Given the description of an element on the screen output the (x, y) to click on. 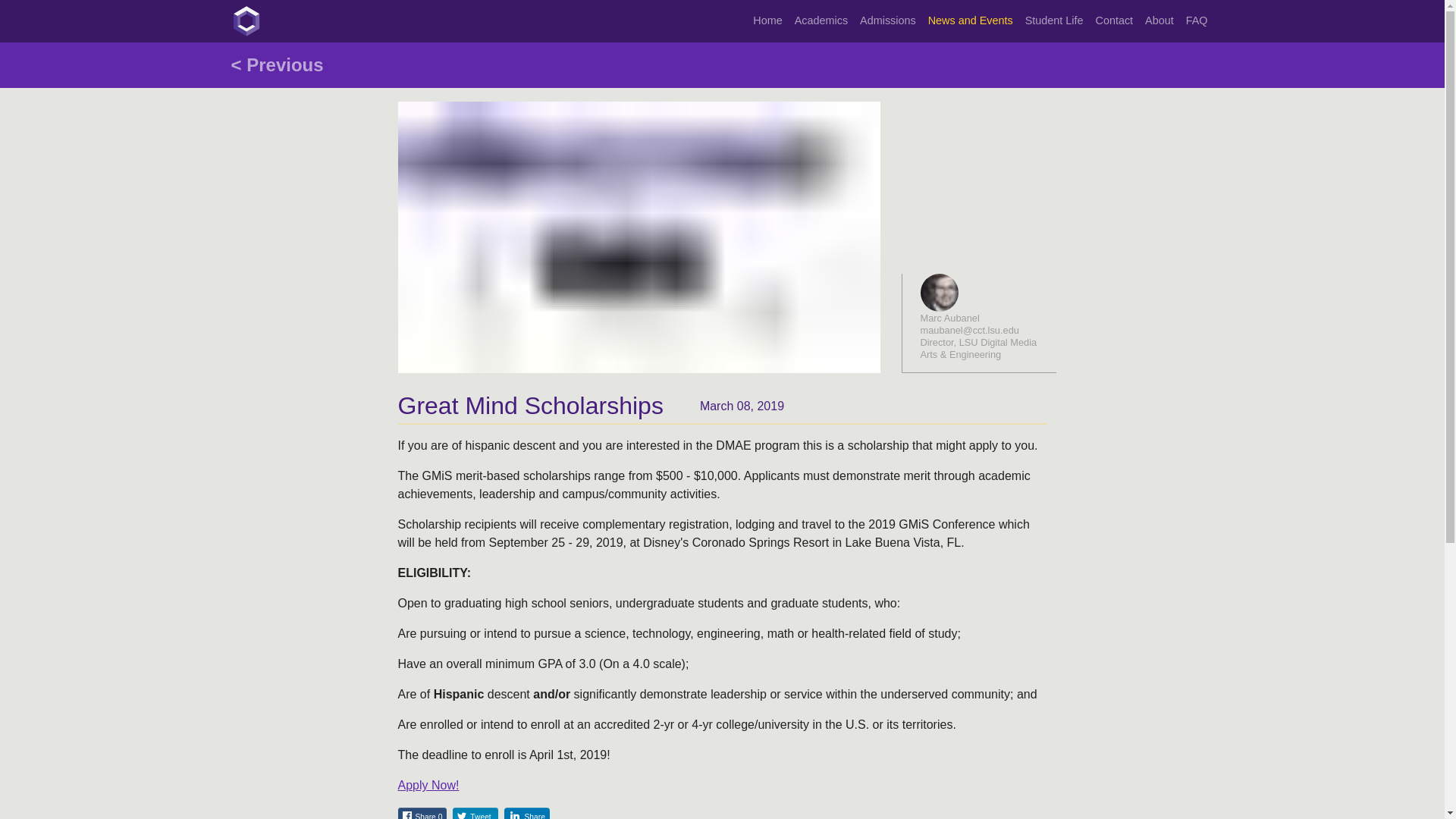
lsu dmae twitter link icon (461, 815)
Student Life (1054, 21)
Contact (1113, 21)
Apply Now! (427, 784)
lsu dmae twitter link iconTweet  (475, 814)
About (1158, 21)
Home (766, 21)
lsu dmae facebook link iconShare 0 (421, 814)
FAQ (1196, 21)
dmae.lsu.edu icon and link (245, 20)
dmae.lsu.edu icon and link (245, 19)
Share (526, 814)
lsu dmae facebook link icon (405, 815)
News and Events (970, 21)
Admissions (887, 21)
